Given the description of an element on the screen output the (x, y) to click on. 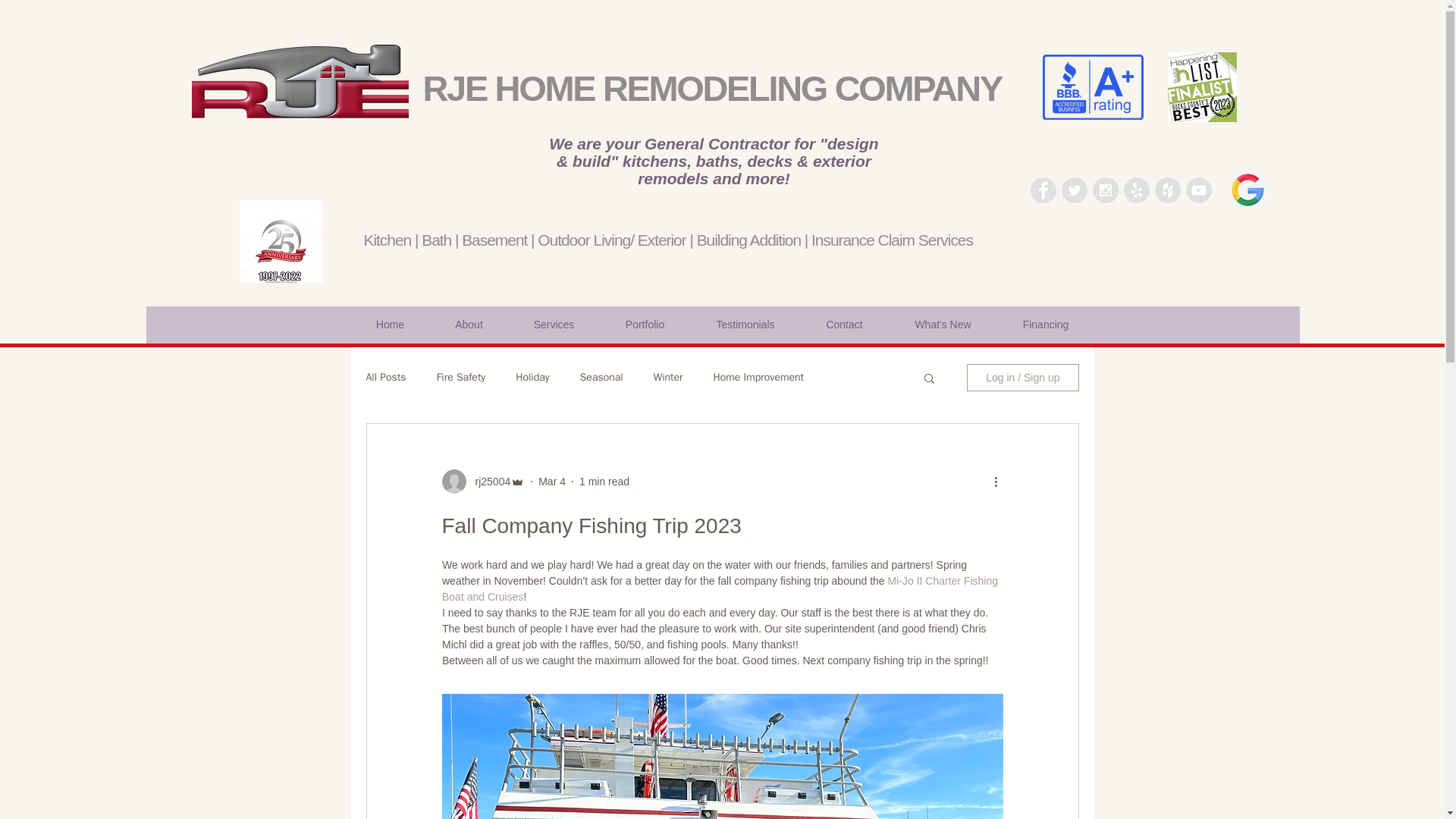
Portfolio (644, 324)
Home (389, 324)
Services (553, 324)
unnamed.png (1092, 86)
RJE Home Remodeling Company (299, 81)
Mar 4 (552, 481)
rj25004 (488, 481)
Testimonials (744, 324)
1 min read (603, 481)
About (468, 324)
